Given the description of an element on the screen output the (x, y) to click on. 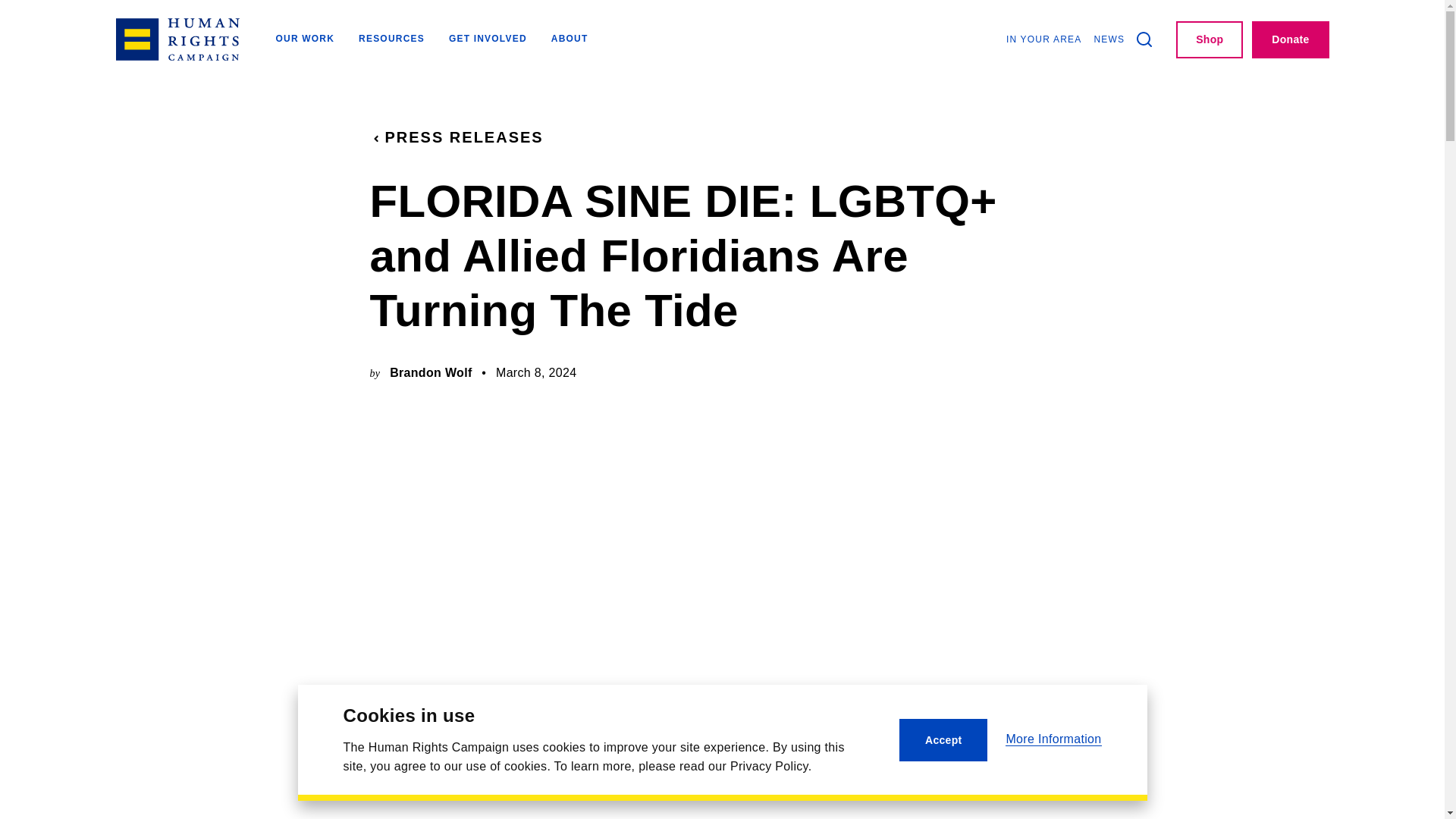
SEARCH (1144, 39)
IN YOUR AREA (1043, 39)
GET INVOLVED (487, 39)
Donate (1289, 39)
OUR WORK (305, 39)
Shop (1209, 39)
PRESS RELEASES (456, 137)
Human Rights Campaign (176, 39)
ABOUT (569, 39)
More Information (1053, 739)
